Given the description of an element on the screen output the (x, y) to click on. 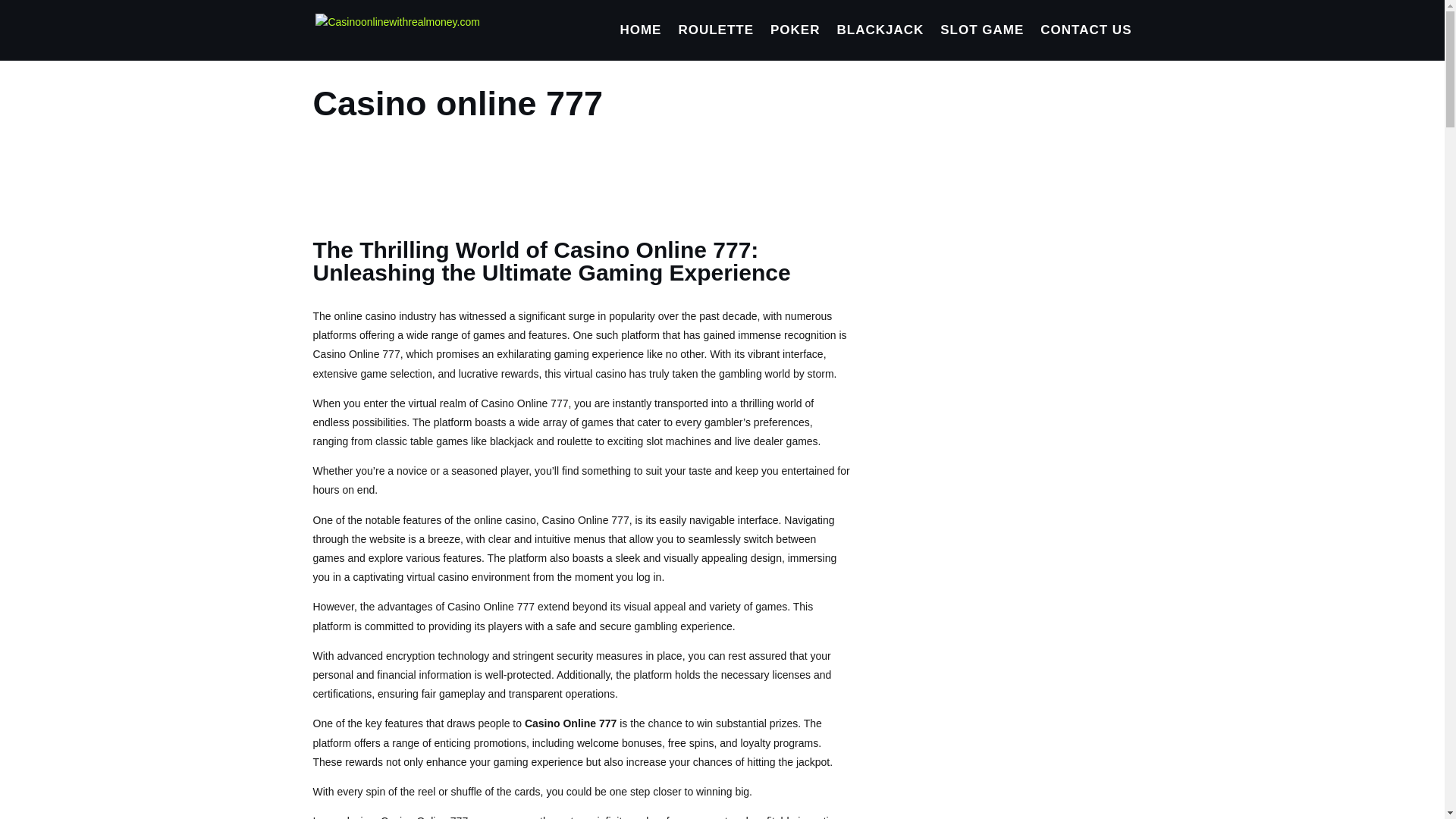
BLACKJACK (879, 42)
CONTACT US (1086, 42)
HOME (640, 42)
POKER (794, 42)
ROULETTE (716, 42)
SLOT GAME (981, 42)
